Given the description of an element on the screen output the (x, y) to click on. 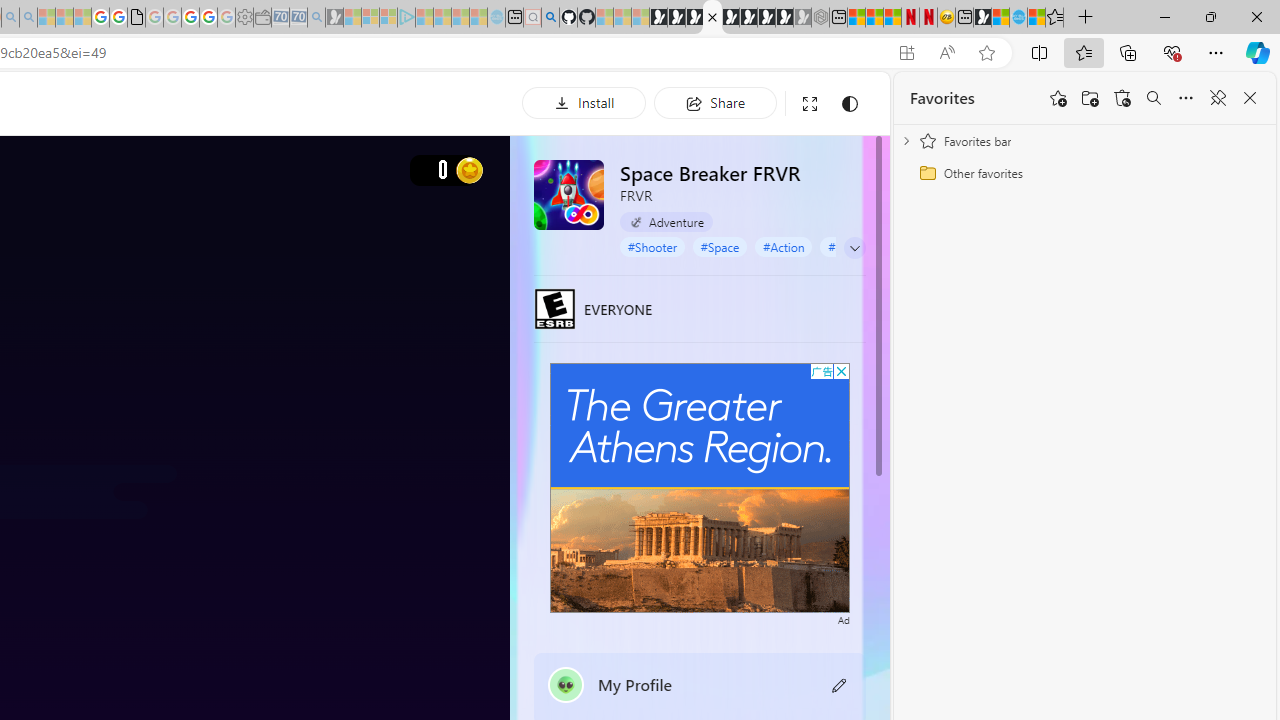
Share (715, 102)
Change to dark mode (849, 103)
""'s avatar (565, 684)
github - Search (550, 17)
